Given the description of an element on the screen output the (x, y) to click on. 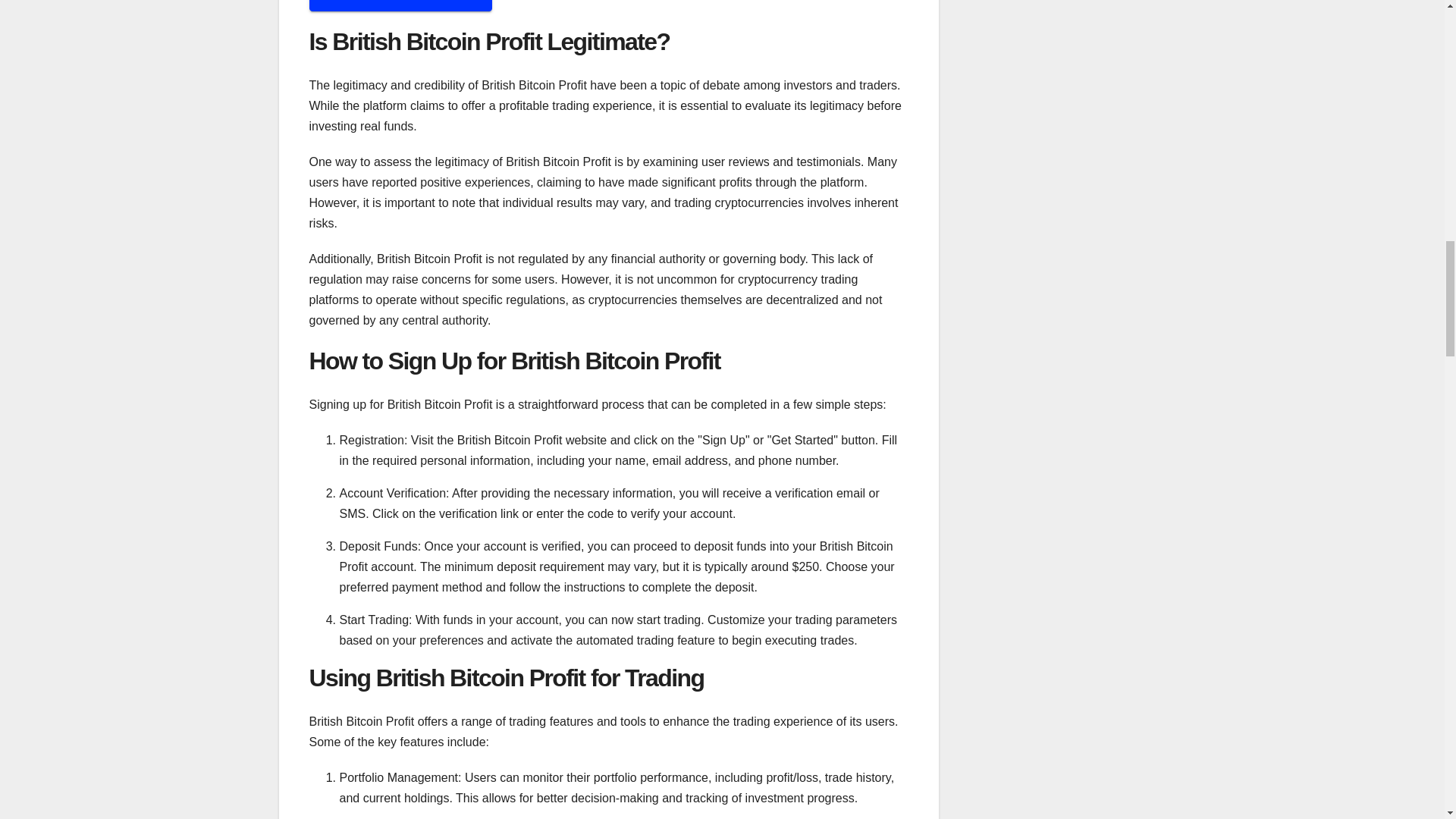
Visit British Bitcoin Profit (400, 5)
